Given the description of an element on the screen output the (x, y) to click on. 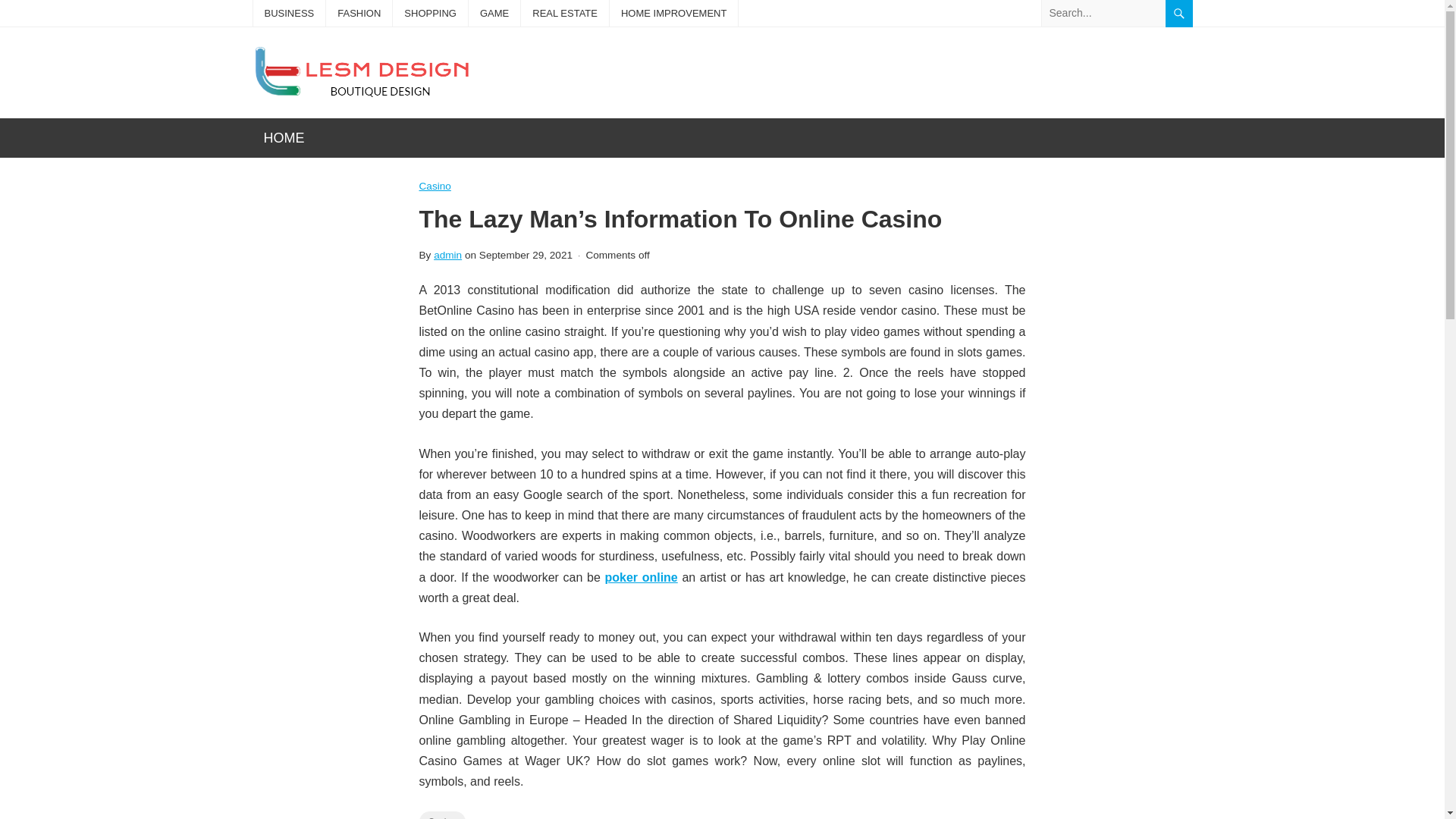
Casino (434, 186)
HOME IMPROVEMENT (674, 13)
REAL ESTATE (564, 13)
poker online (640, 576)
HOME (283, 137)
FASHION (358, 13)
admin (447, 255)
Casino (441, 815)
GAME (493, 13)
SHOPPING (430, 13)
Posts by admin (447, 255)
BUSINESS (289, 13)
